Given the description of an element on the screen output the (x, y) to click on. 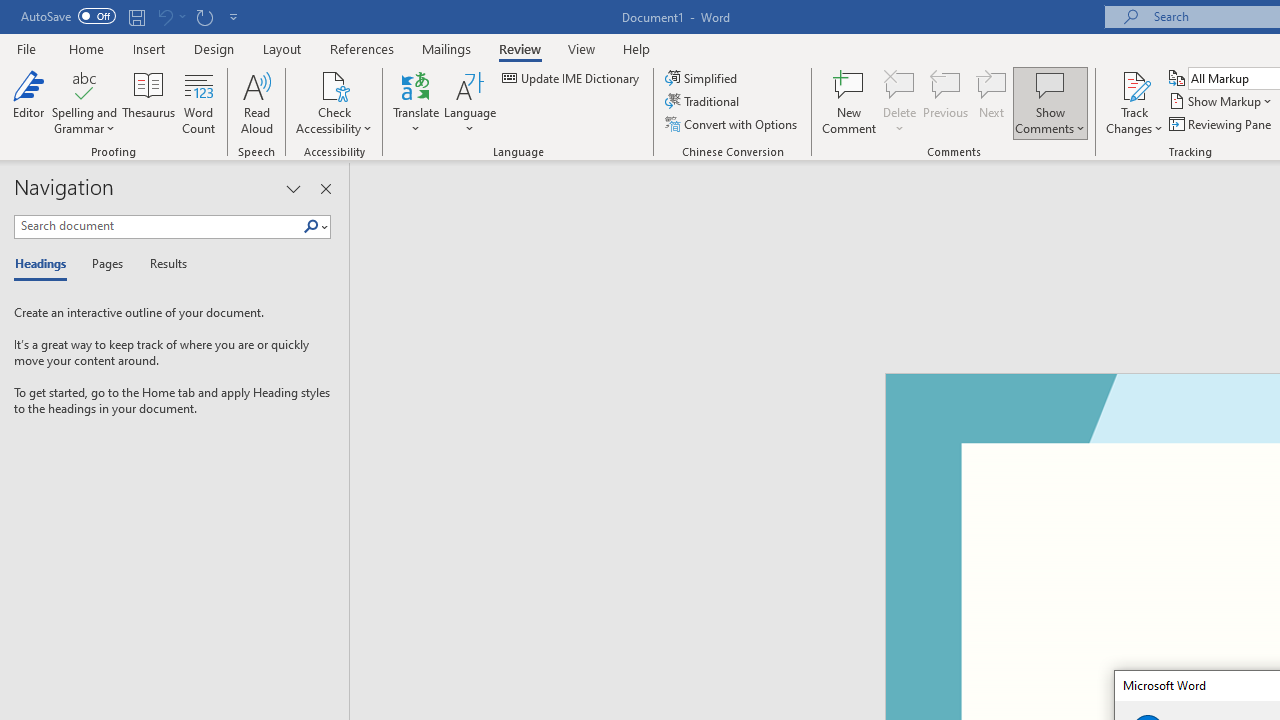
Track Changes (1134, 84)
Repeat Doc Close (204, 15)
Show Comments (1050, 102)
Task Pane Options (293, 188)
Mailings (447, 48)
Thesaurus... (148, 102)
Read Aloud (256, 102)
Can't Undo (170, 15)
Show Markup (1222, 101)
Design (214, 48)
Word Count (198, 102)
Translate (415, 102)
Search document (157, 226)
